Given the description of an element on the screen output the (x, y) to click on. 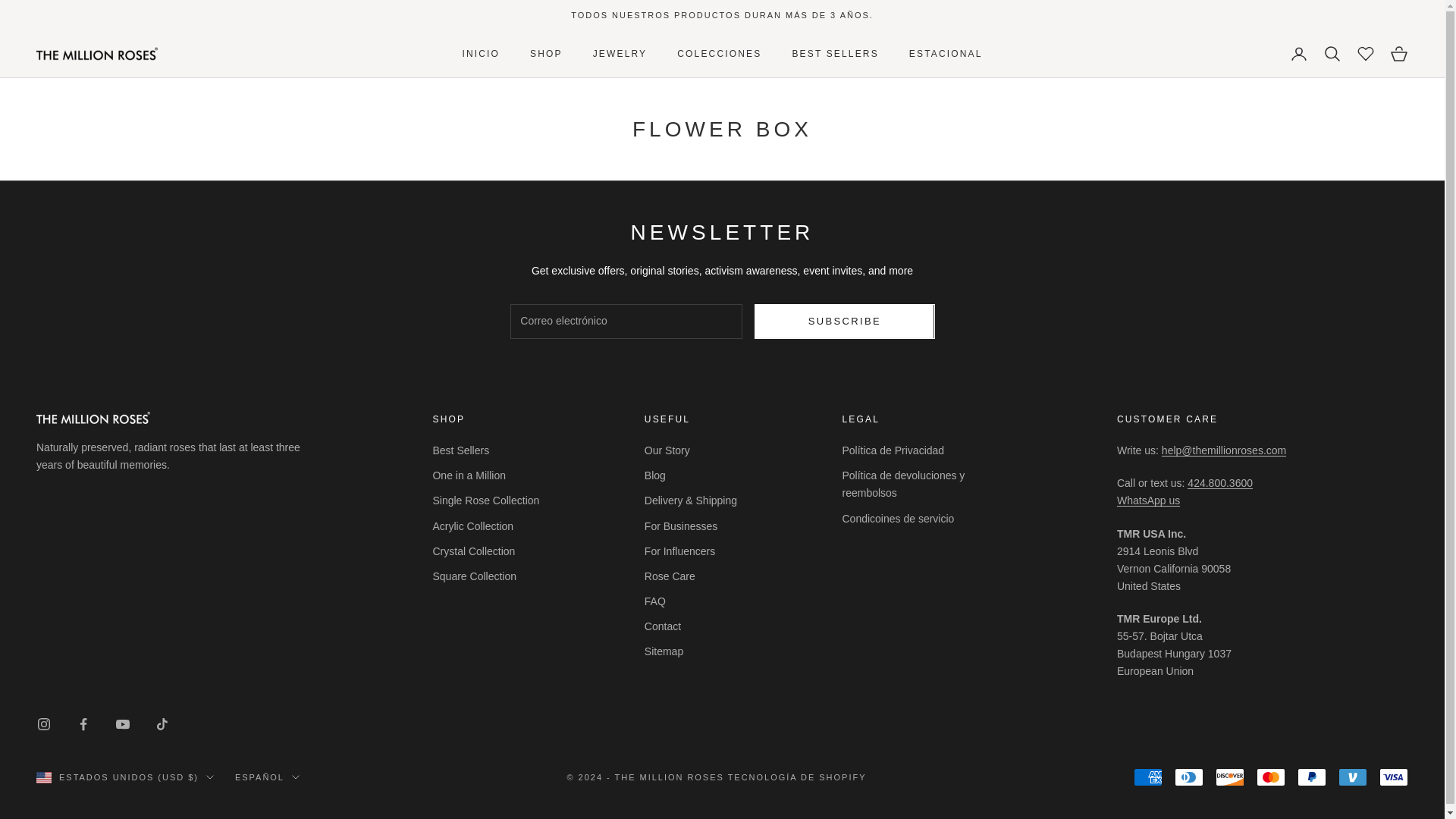
INICIO (480, 53)
JEWELRY (619, 53)
tel:424.800.3600 (1220, 482)
The Million Roses (96, 53)
